Given the description of an element on the screen output the (x, y) to click on. 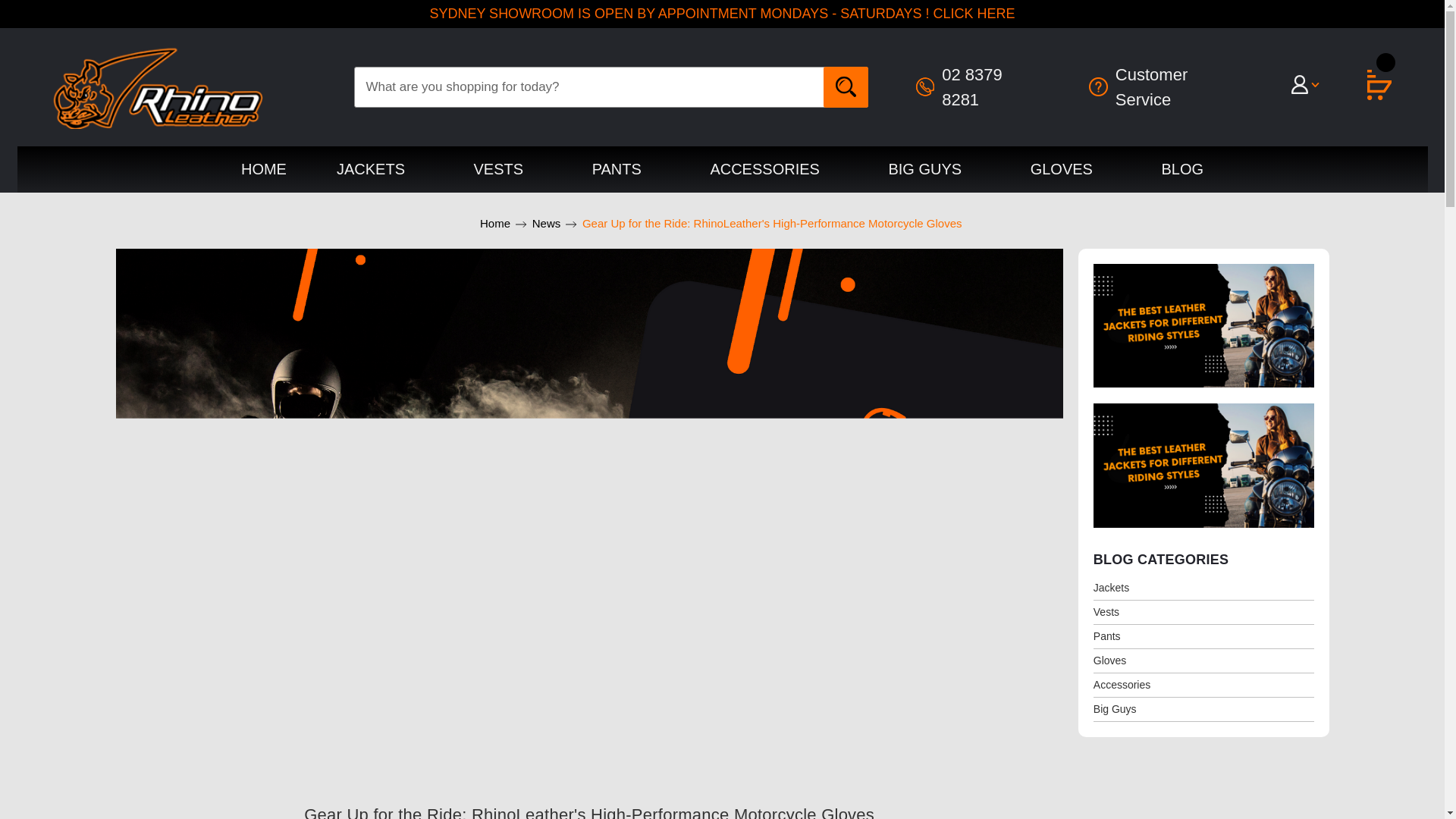
Customer Service (1166, 87)
02 8379 8281 (978, 87)
VESTS (507, 169)
JACKETS (379, 169)
PANTS (626, 169)
HOME (263, 169)
Rhinoleather (157, 86)
ACCESSORIES (773, 169)
